Given the description of an element on the screen output the (x, y) to click on. 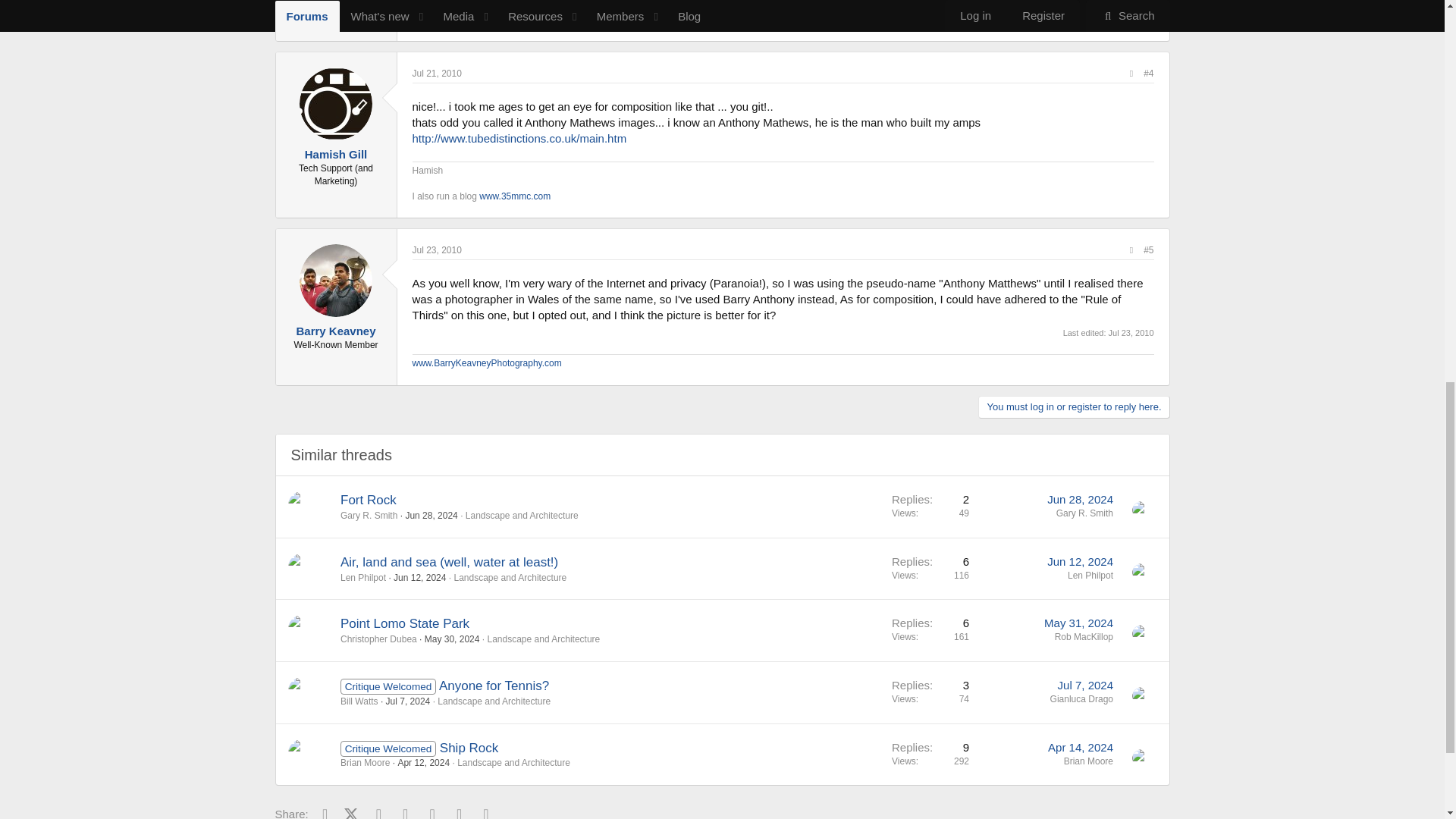
Jun 28, 2024 at 3:54 AM (1079, 499)
Jun 12, 2024 at 9:59 PM (1079, 561)
Jun 12, 2024 at 6:23 PM (419, 577)
First message reaction score: 7 (930, 567)
May 30, 2024 at 7:40 PM (452, 638)
Jul 23, 2010 at 1:19 PM (436, 249)
Jul 23, 2010 at 1:25 PM (1131, 332)
Jun 28, 2024 at 12:47 AM (430, 515)
First message reaction score: 0 (930, 506)
Jul 21, 2010 at 4:54 PM (436, 72)
